Given the description of an element on the screen output the (x, y) to click on. 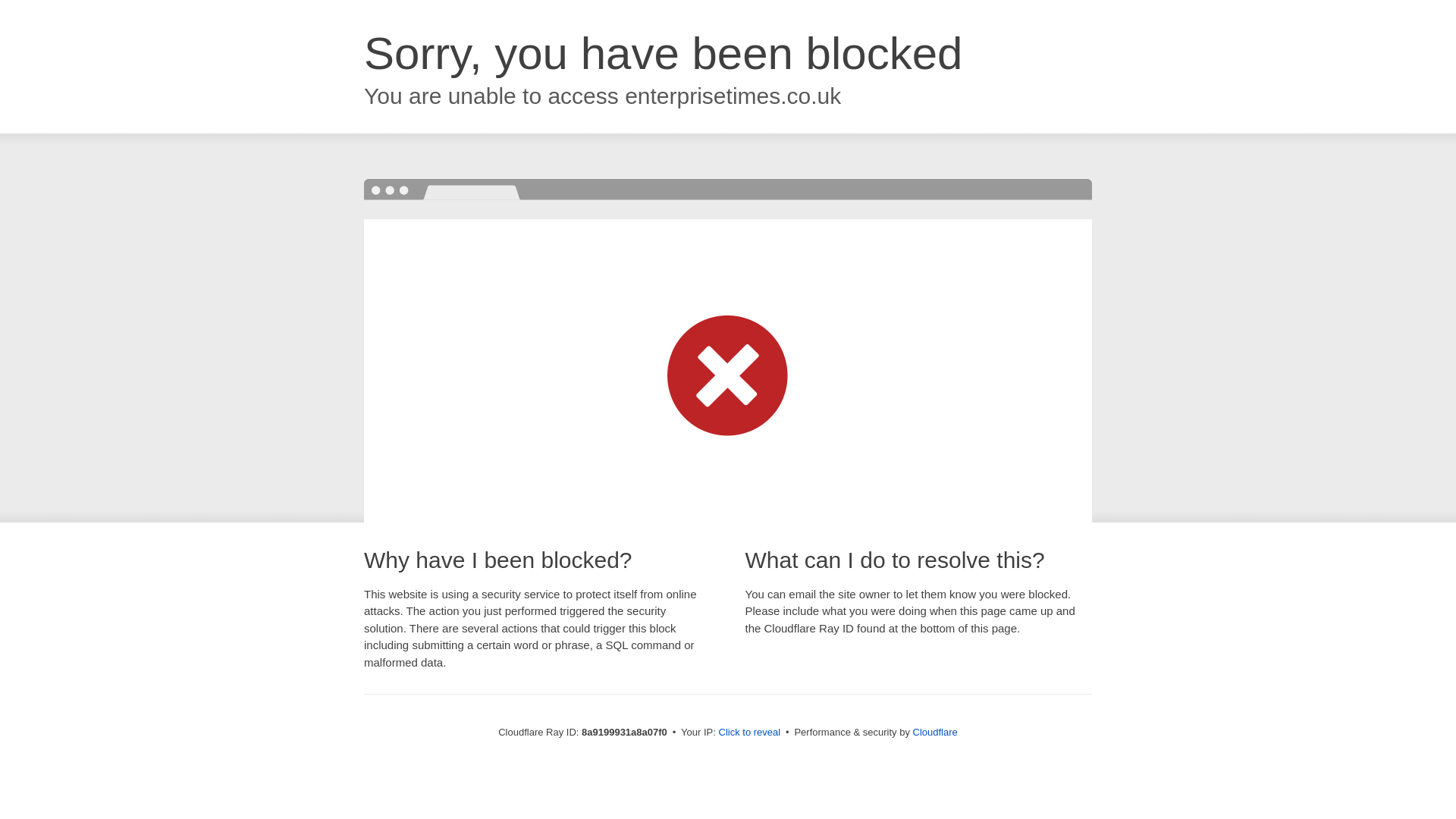
Cloudflare (935, 731)
Click to reveal (749, 732)
